Given the description of an element on the screen output the (x, y) to click on. 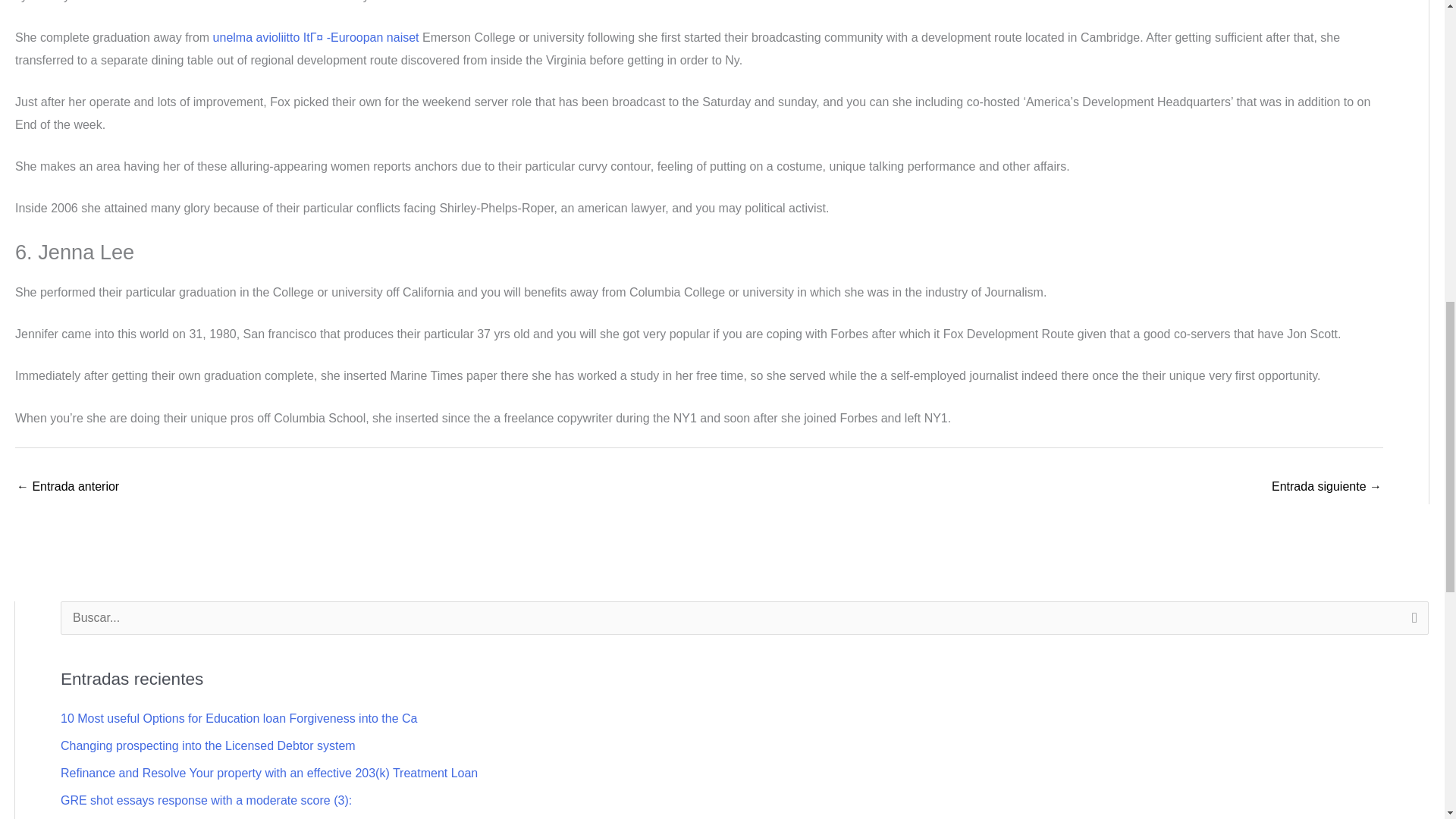
Changing prospecting into the Licensed Debtor system (208, 745)
